Given the description of an element on the screen output the (x, y) to click on. 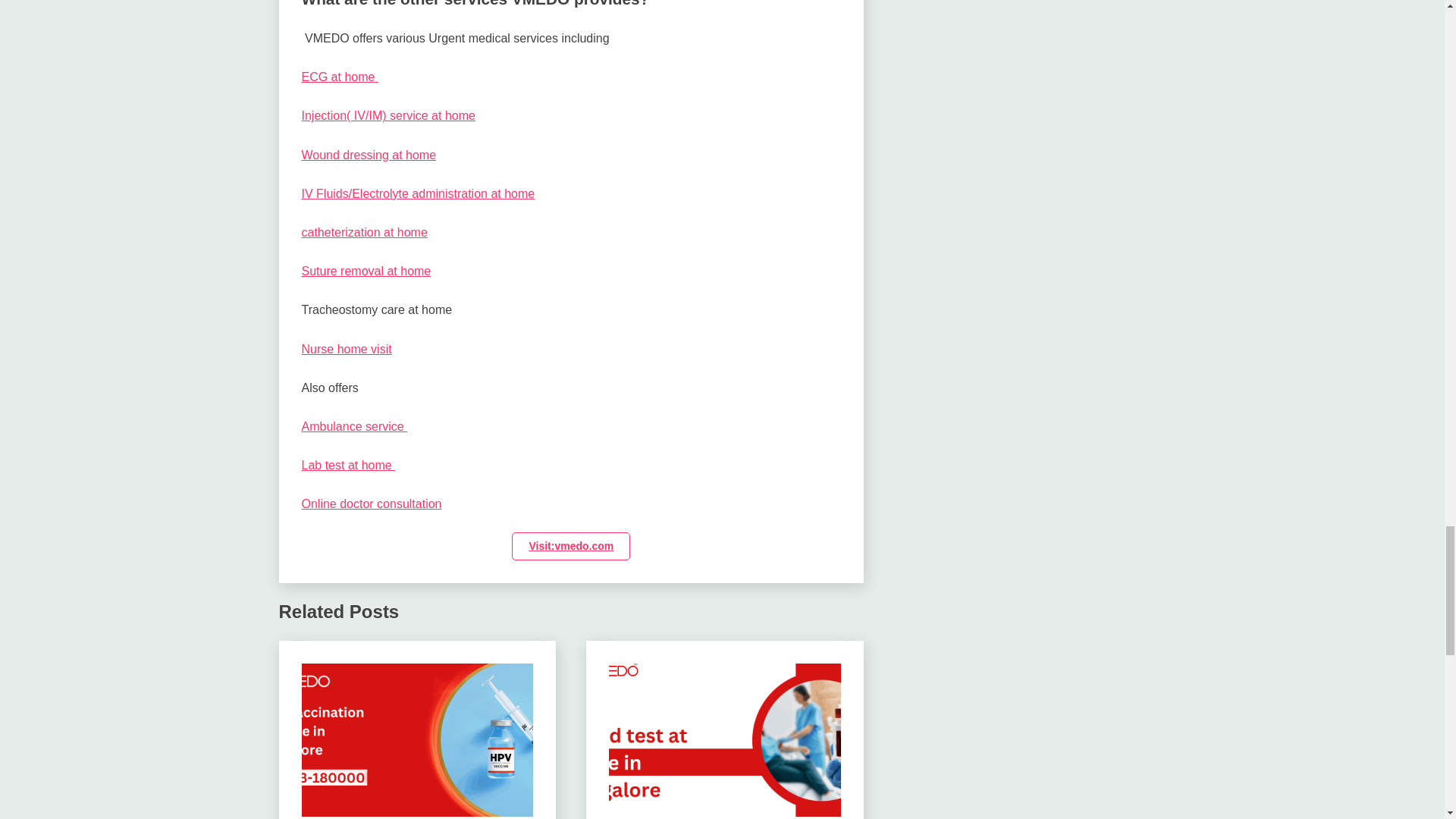
Online doctor consultation (371, 503)
ECG at home  (339, 76)
catheterization at home (364, 232)
Suture removal at home (365, 270)
Lab test at home  (348, 464)
Wound dressing at home (368, 154)
Ambulance service  (354, 426)
Visit:vmedo.com (571, 546)
Nurse home visit (346, 349)
